Given the description of an element on the screen output the (x, y) to click on. 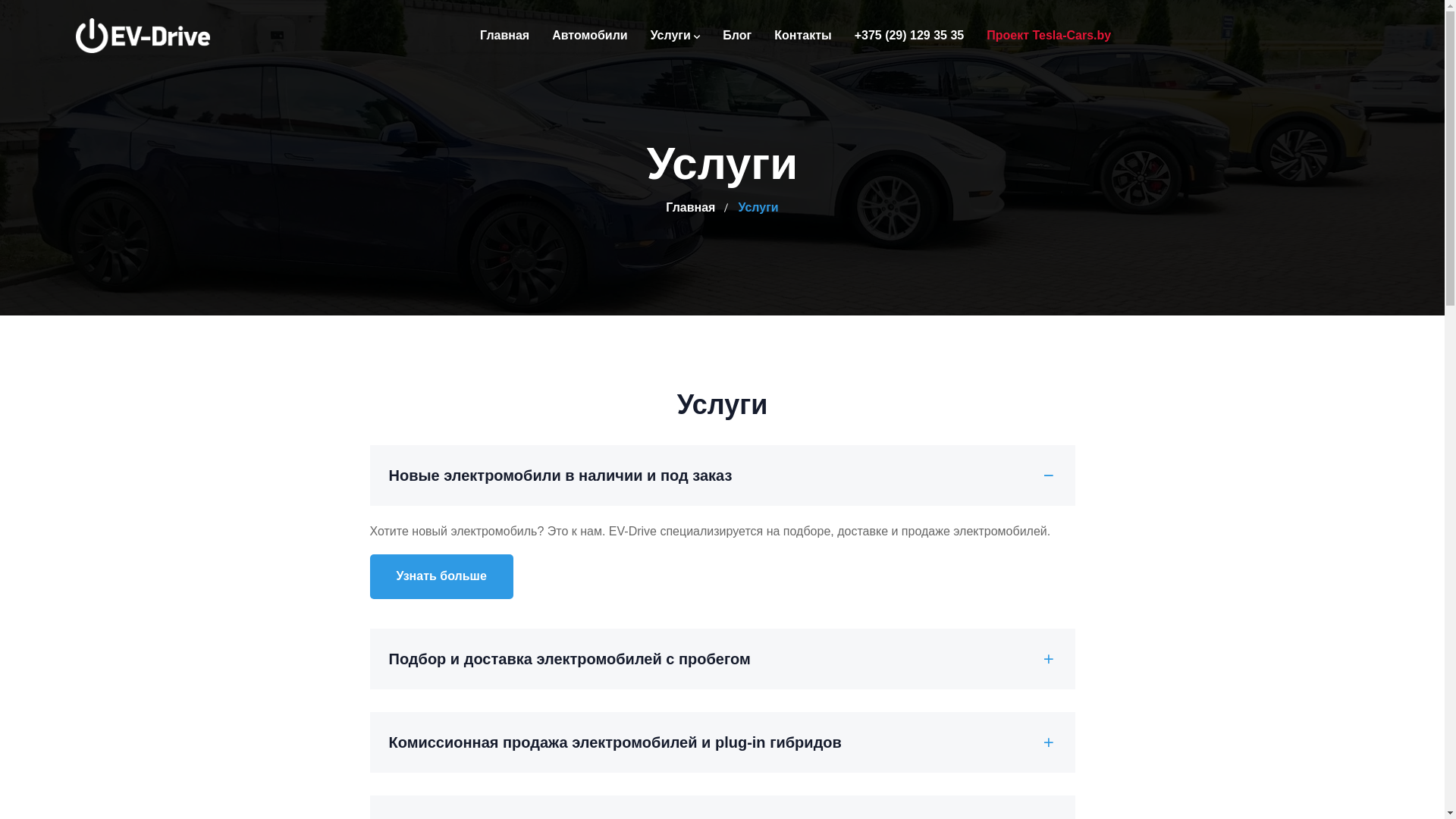
+375 (29) 129 35 35 Element type: text (909, 35)
